Given the description of an element on the screen output the (x, y) to click on. 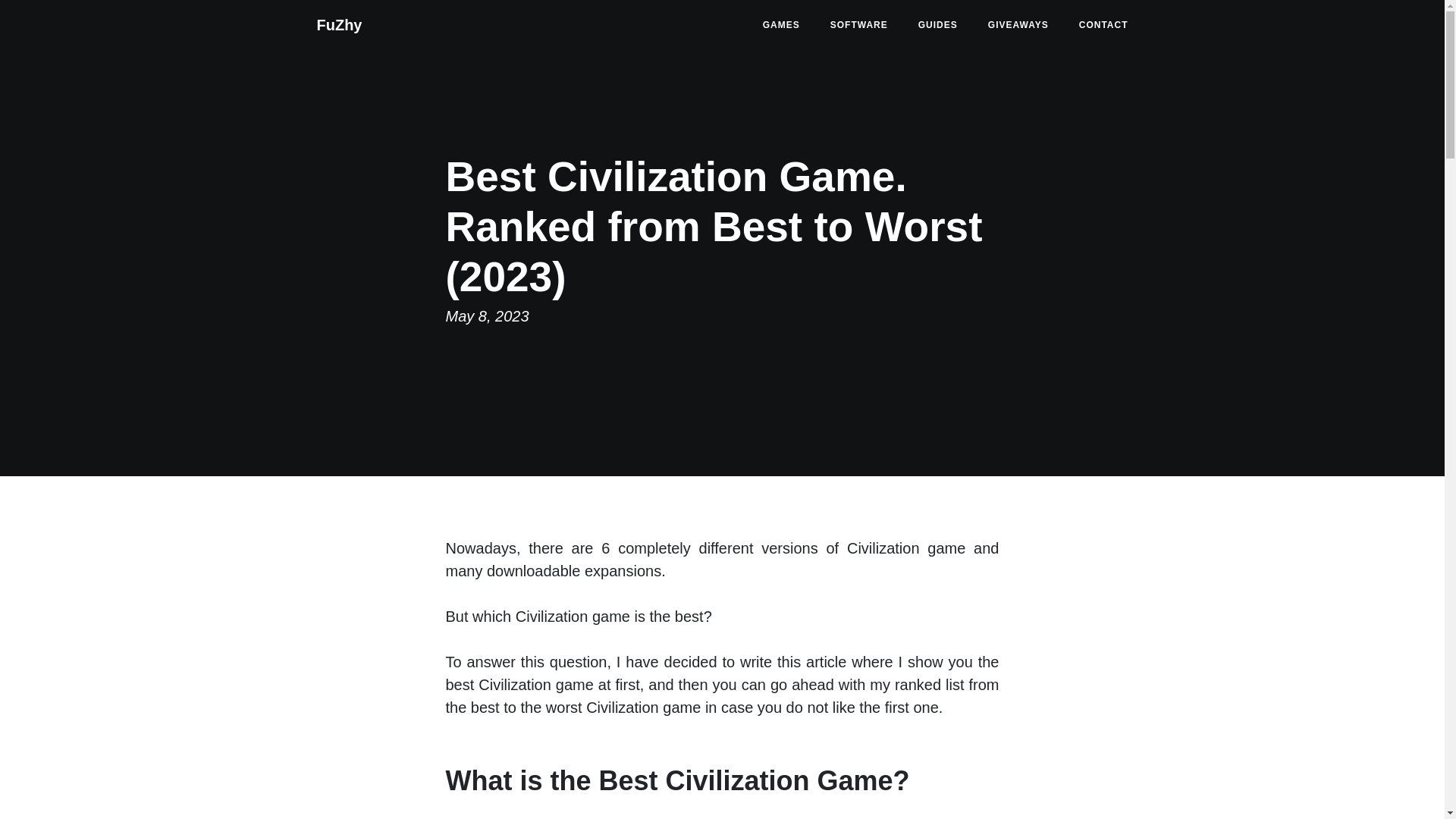
GIVEAWAYS (1018, 24)
GAMES (781, 24)
CONTACT (1103, 24)
SOFTWARE (858, 24)
FuZhy (339, 24)
GUIDES (937, 24)
